Given the description of an element on the screen output the (x, y) to click on. 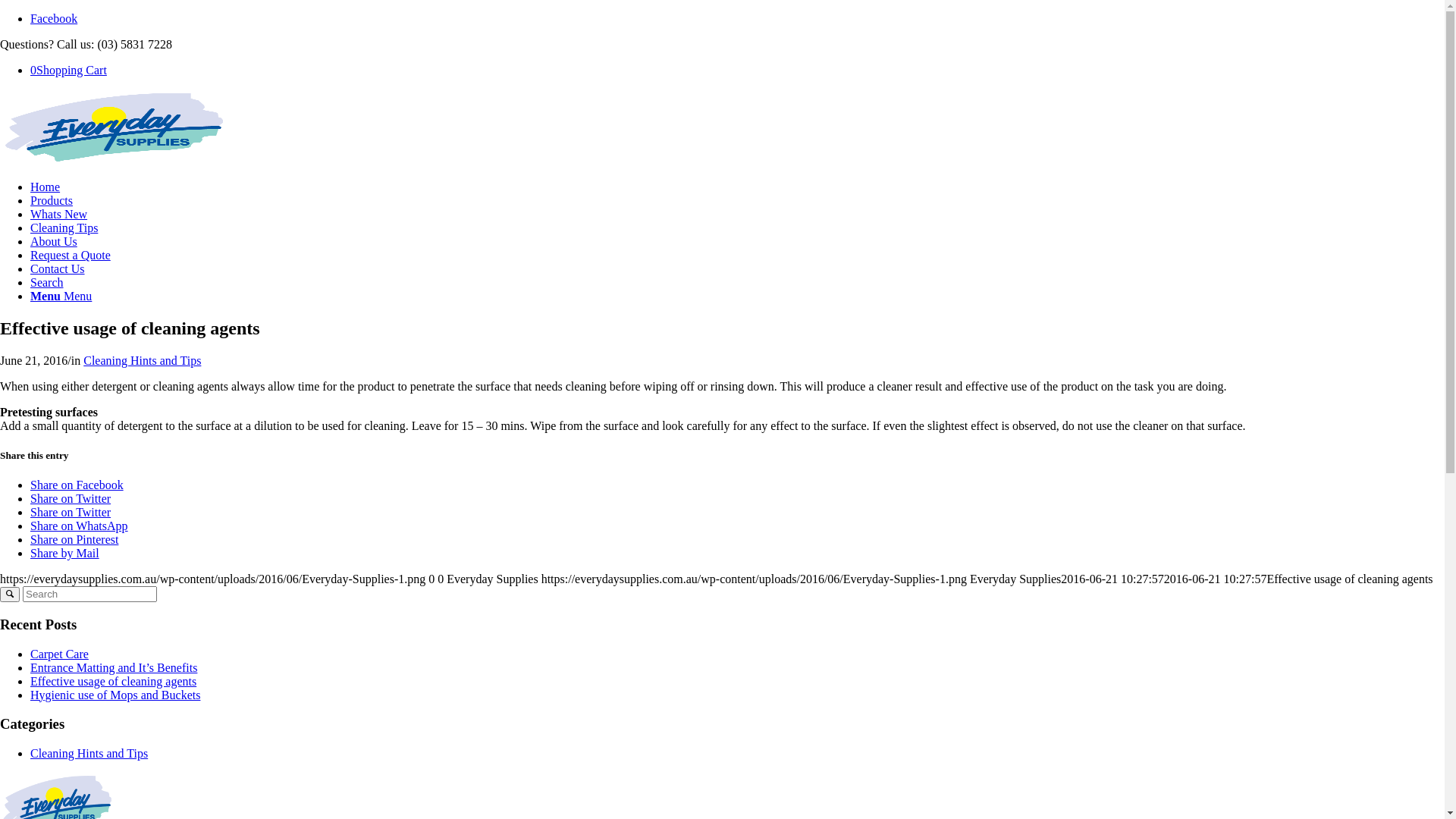
Share on Twitter Element type: text (70, 498)
Share on Facebook Element type: text (76, 484)
Search Element type: text (46, 282)
Contact Us Element type: text (57, 268)
Home Element type: text (44, 186)
About Us Element type: text (53, 241)
Whats New Element type: text (58, 213)
Menu Menu Element type: text (60, 295)
Share on Twitter Element type: text (70, 511)
Everyday-Supplies Element type: hover (113, 160)
Everyday-Supplies Element type: hover (113, 127)
Request a Quote Element type: text (70, 254)
Hygienic use of Mops and Buckets Element type: text (115, 694)
Cleaning Tips Element type: text (63, 227)
Share by Mail Element type: text (64, 552)
Cleaning Hints and Tips Element type: text (141, 360)
0Shopping Cart Element type: text (68, 69)
Facebook Element type: text (53, 18)
Effective usage of cleaning agents Element type: text (113, 680)
Carpet Care Element type: text (59, 653)
Share on Pinterest Element type: text (74, 539)
Products Element type: text (51, 200)
Cleaning Hints and Tips Element type: text (88, 752)
Share on WhatsApp Element type: text (79, 525)
